Given the description of an element on the screen output the (x, y) to click on. 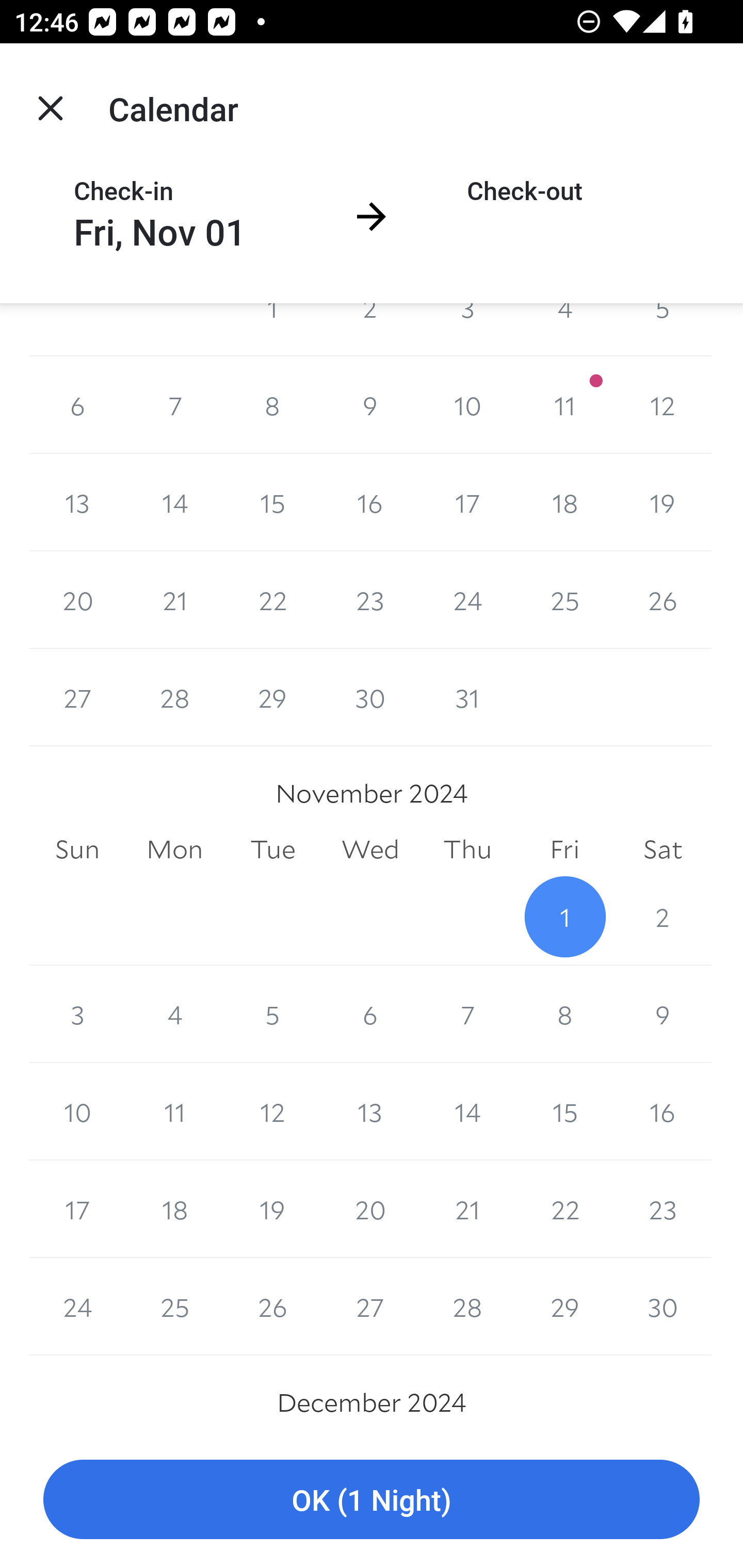
6 6 October 2024 (77, 404)
7 7 October 2024 (174, 404)
8 8 October 2024 (272, 404)
9 9 October 2024 (370, 404)
10 10 October 2024 (467, 404)
11 11 October 2024 (564, 404)
12 12 October 2024 (662, 404)
13 13 October 2024 (77, 502)
14 14 October 2024 (174, 502)
15 15 October 2024 (272, 502)
16 16 October 2024 (370, 502)
17 17 October 2024 (467, 502)
18 18 October 2024 (564, 502)
19 19 October 2024 (662, 502)
20 20 October 2024 (77, 600)
21 21 October 2024 (174, 600)
22 22 October 2024 (272, 600)
23 23 October 2024 (370, 600)
24 24 October 2024 (467, 600)
25 25 October 2024 (564, 600)
26 26 October 2024 (662, 600)
27 27 October 2024 (77, 697)
28 28 October 2024 (174, 697)
29 29 October 2024 (272, 697)
30 30 October 2024 (370, 697)
31 31 October 2024 (467, 697)
Sun (77, 849)
Mon (174, 849)
Tue (272, 849)
Wed (370, 849)
Thu (467, 849)
Fri (564, 849)
Sat (662, 849)
1 1 November 2024 (564, 916)
2 2 November 2024 (662, 916)
3 3 November 2024 (77, 1014)
4 4 November 2024 (174, 1014)
5 5 November 2024 (272, 1014)
6 6 November 2024 (370, 1014)
7 7 November 2024 (467, 1014)
8 8 November 2024 (564, 1014)
9 9 November 2024 (662, 1014)
10 10 November 2024 (77, 1111)
11 11 November 2024 (174, 1111)
12 12 November 2024 (272, 1111)
13 13 November 2024 (370, 1111)
14 14 November 2024 (467, 1111)
15 15 November 2024 (564, 1111)
16 16 November 2024 (662, 1111)
17 17 November 2024 (77, 1208)
18 18 November 2024 (174, 1208)
19 19 November 2024 (272, 1208)
20 20 November 2024 (370, 1208)
21 21 November 2024 (467, 1208)
22 22 November 2024 (564, 1208)
23 23 November 2024 (662, 1208)
24 24 November 2024 (77, 1305)
25 25 November 2024 (174, 1305)
26 26 November 2024 (272, 1305)
27 27 November 2024 (370, 1305)
28 28 November 2024 (467, 1305)
29 29 November 2024 (564, 1305)
30 30 November 2024 (662, 1305)
OK (1 Night) (371, 1499)
